Given the description of an element on the screen output the (x, y) to click on. 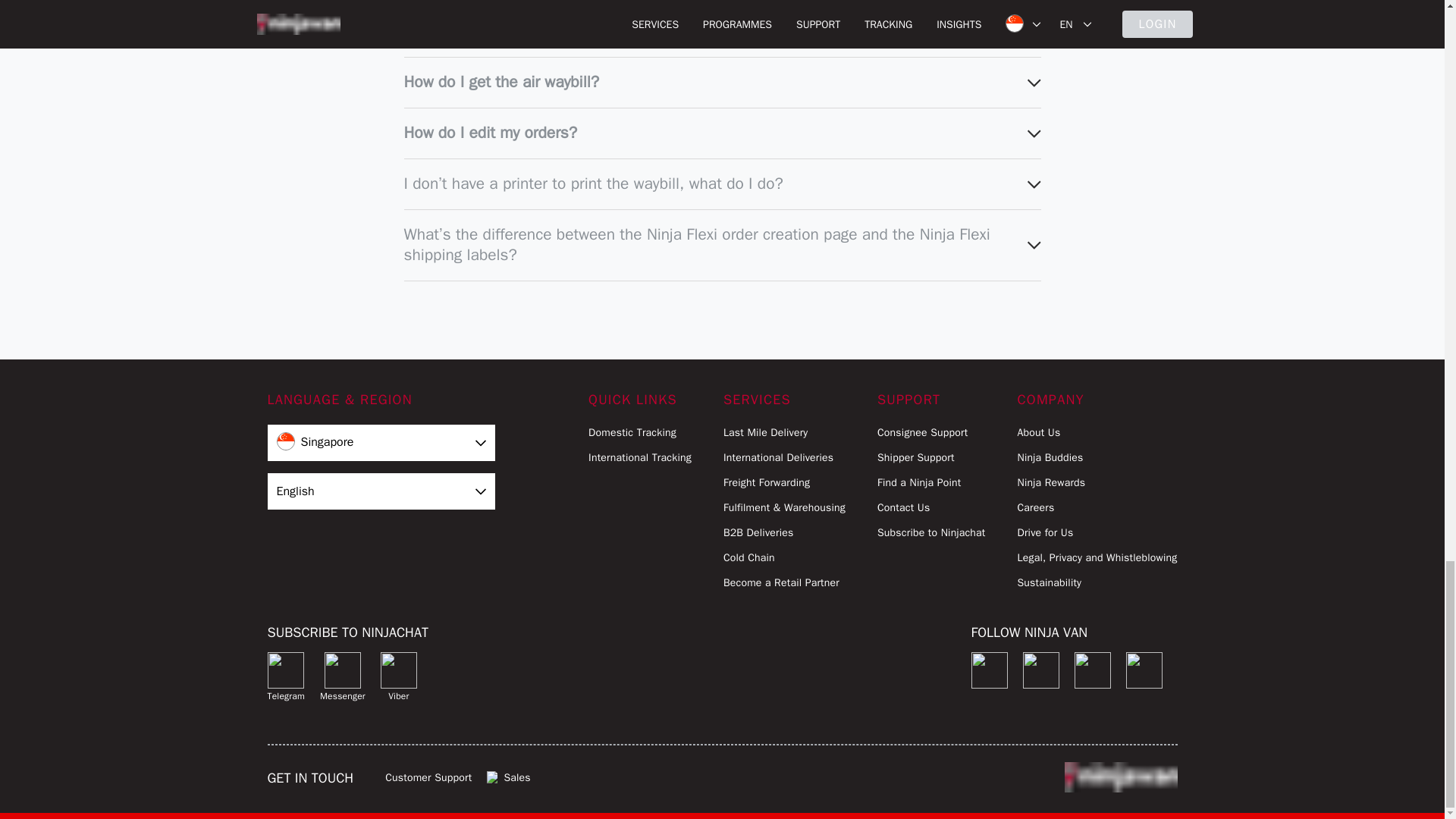
Consignee Support (931, 432)
Last Mile Delivery (784, 432)
Contact Us (931, 507)
Freight Forwarding (784, 482)
B2B Deliveries (784, 532)
Domestic Tracking (639, 432)
Cold Chain (784, 557)
Become a Retail Partner (784, 582)
English (380, 491)
International Tracking (639, 457)
International Deliveries (784, 457)
Singapore (380, 443)
Shipper Support (931, 457)
Find a Ninja Point (931, 482)
